Given the description of an element on the screen output the (x, y) to click on. 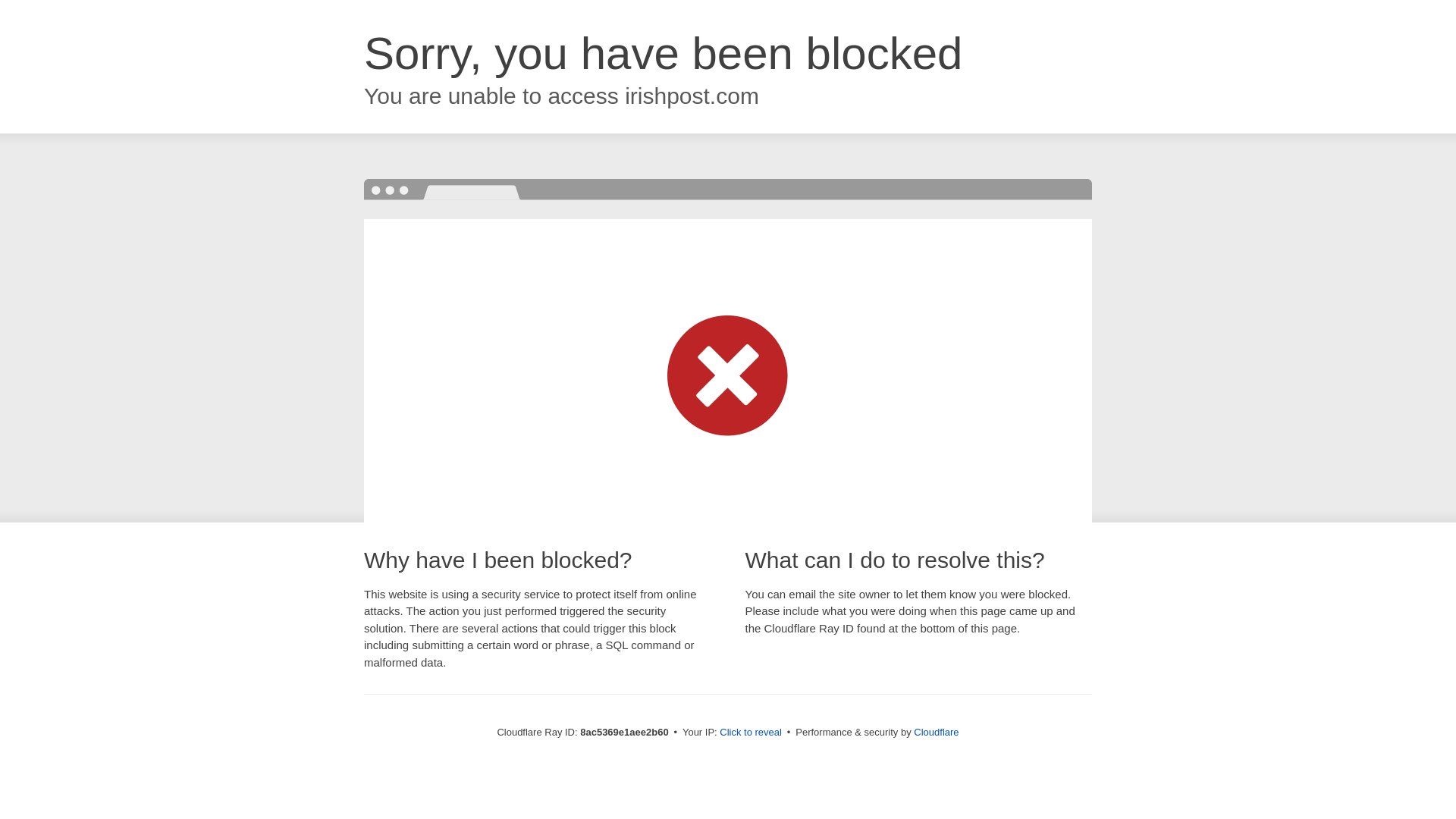
Click to reveal (750, 732)
Cloudflare (936, 731)
